Given the description of an element on the screen output the (x, y) to click on. 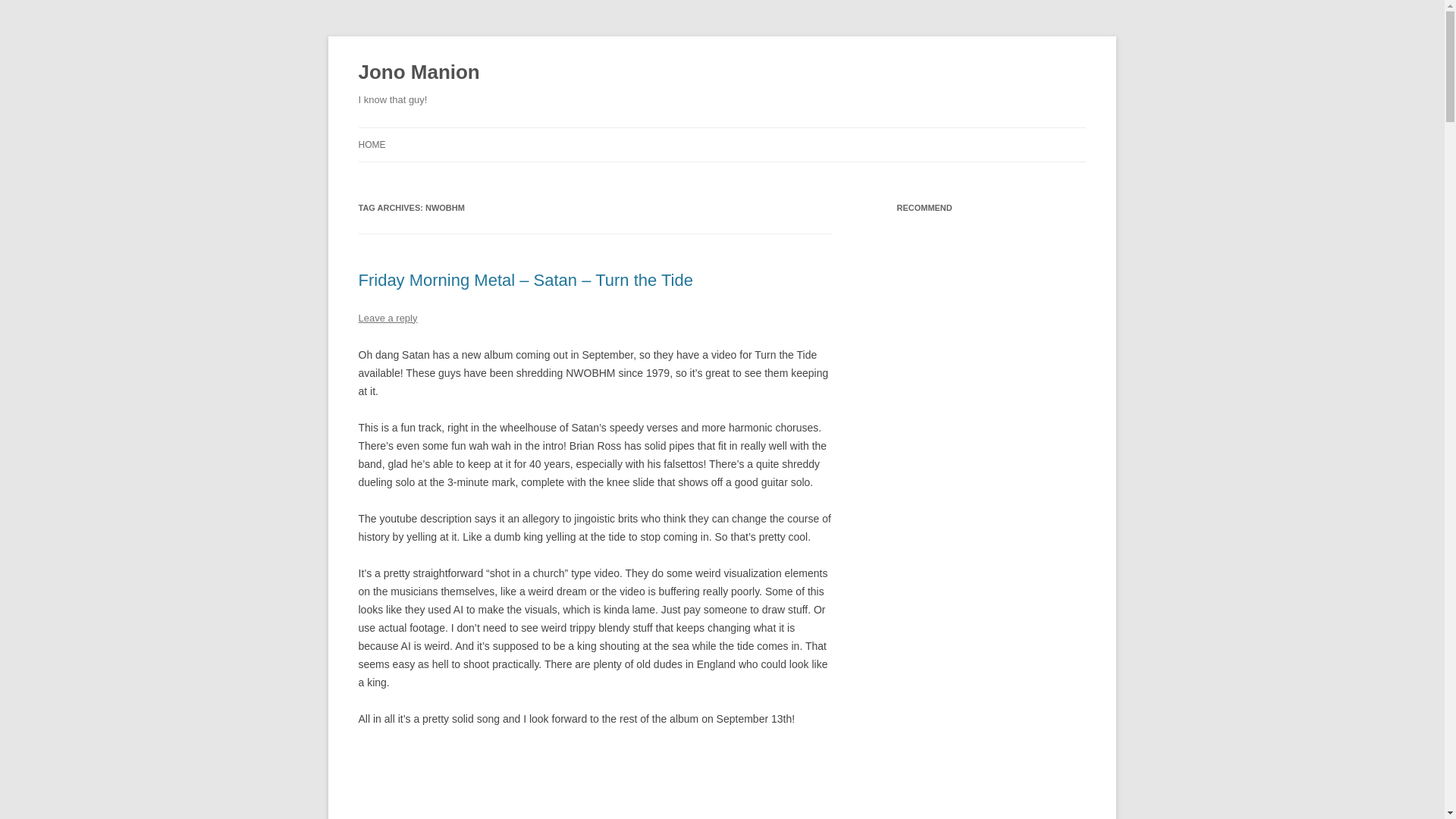
Jono Manion (418, 72)
Leave a reply (387, 317)
